Given the description of an element on the screen output the (x, y) to click on. 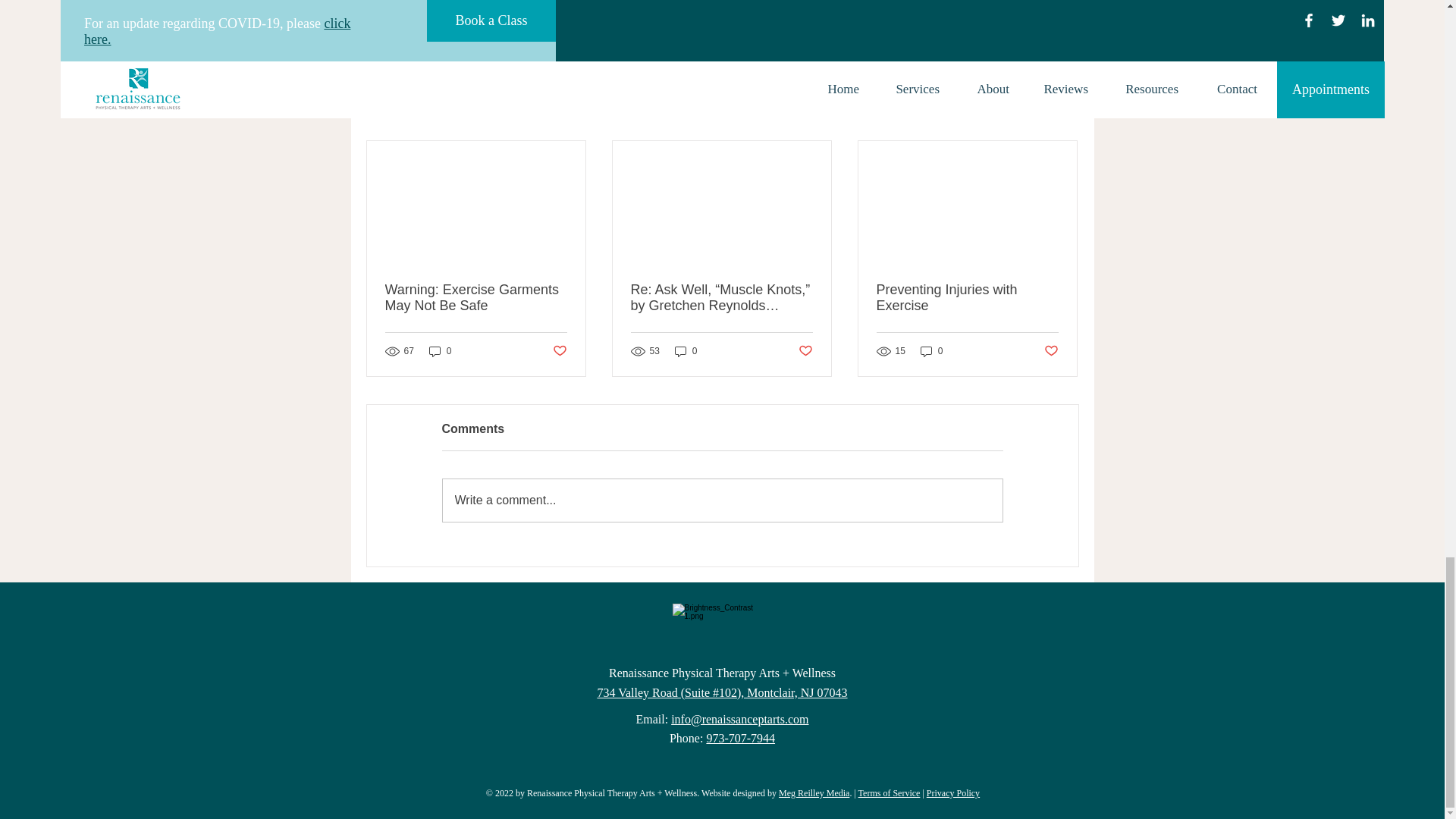
Warning: Exercise Garments May Not Be Safe (476, 297)
0 (440, 350)
Post not marked as liked (558, 351)
Post not marked as liked (995, 31)
See All (1061, 114)
